Given the description of an element on the screen output the (x, y) to click on. 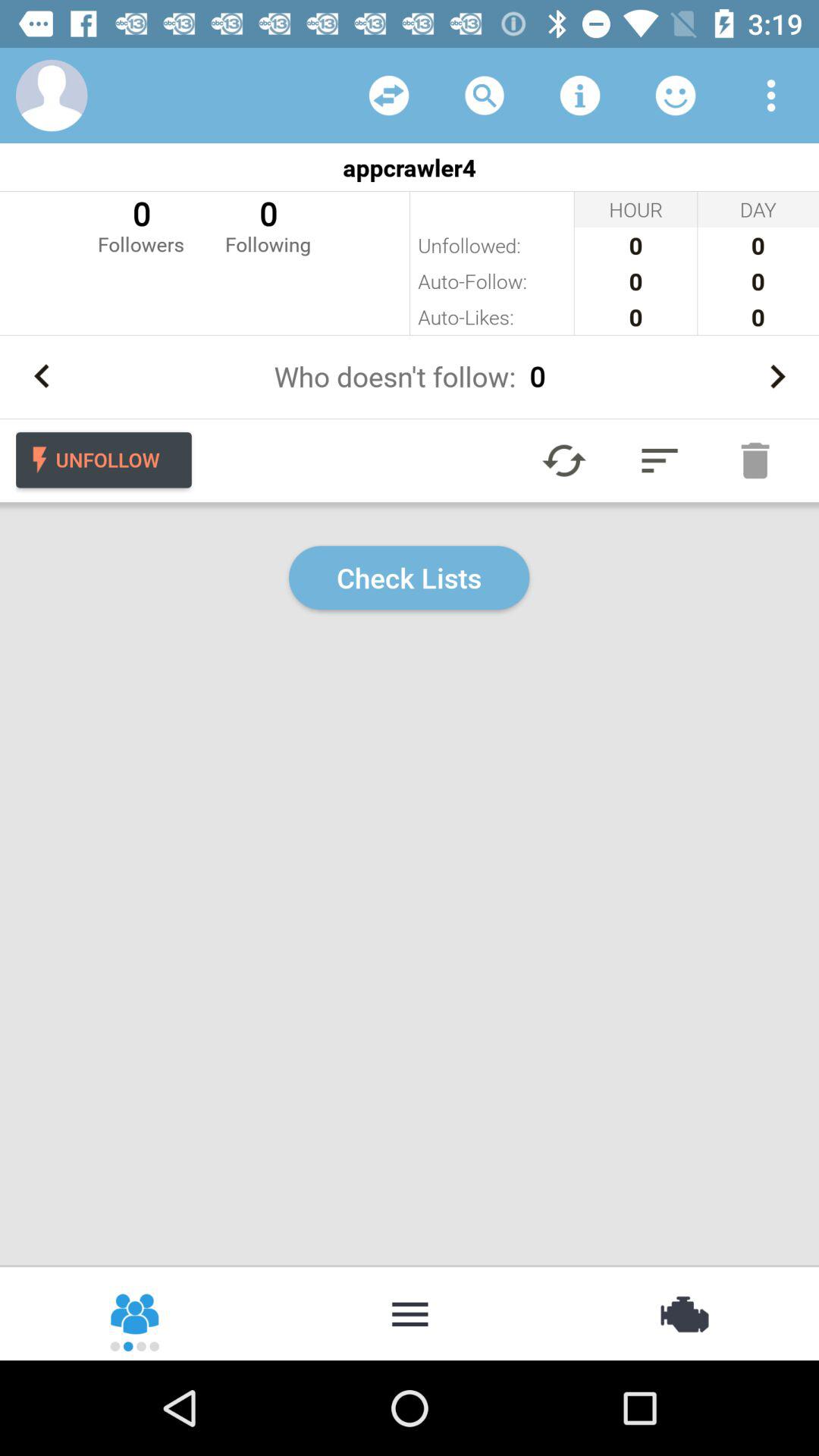
turn off the 0
followers icon (140, 224)
